Given the description of an element on the screen output the (x, y) to click on. 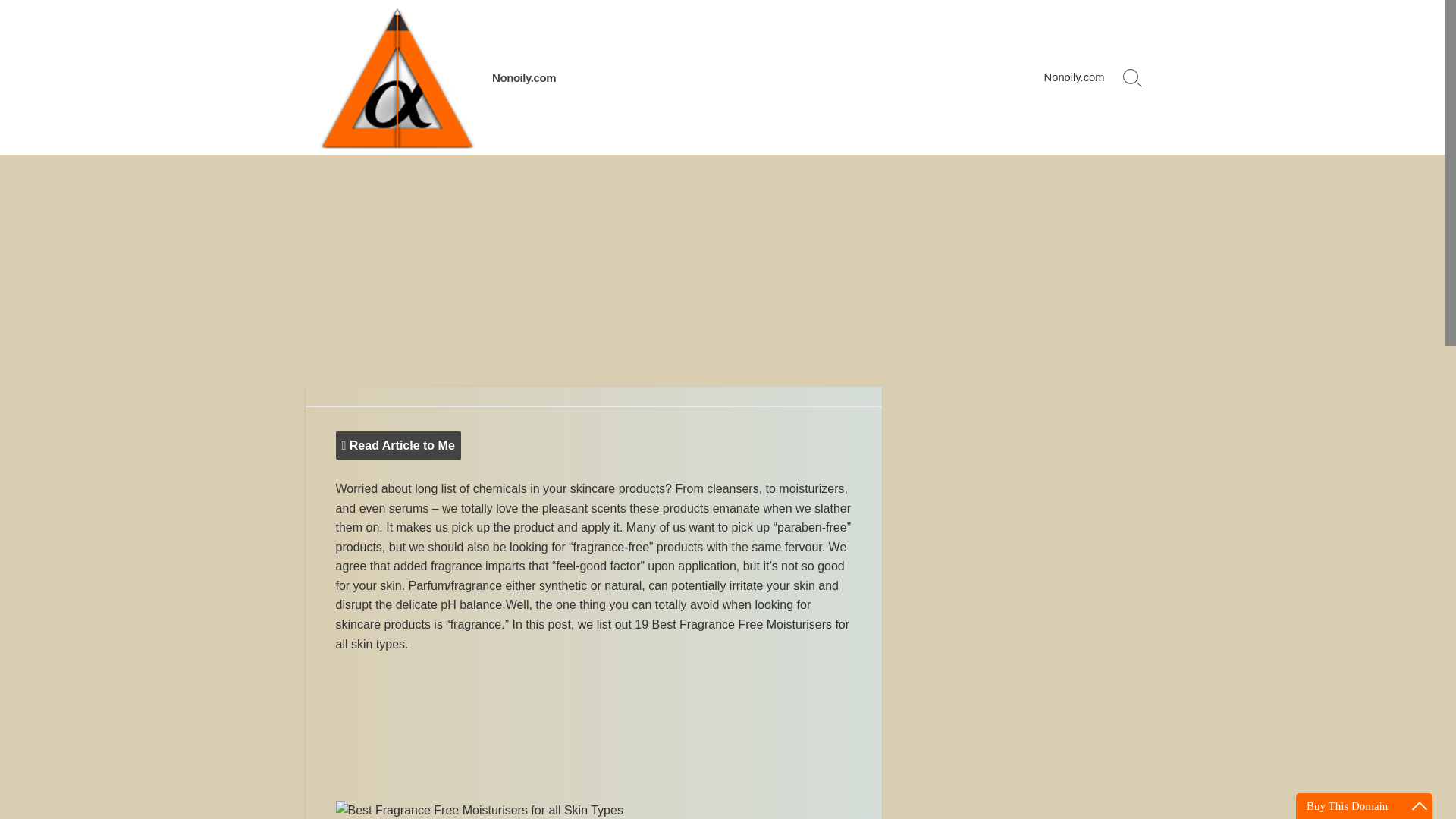
Maximize (1419, 805)
Nonoily.com (395, 77)
Search Toggle (1132, 77)
Nonoily.com (1074, 77)
Nonoily.com (524, 77)
Advertisement (592, 729)
Nonoily.com (524, 77)
